Given the description of an element on the screen output the (x, y) to click on. 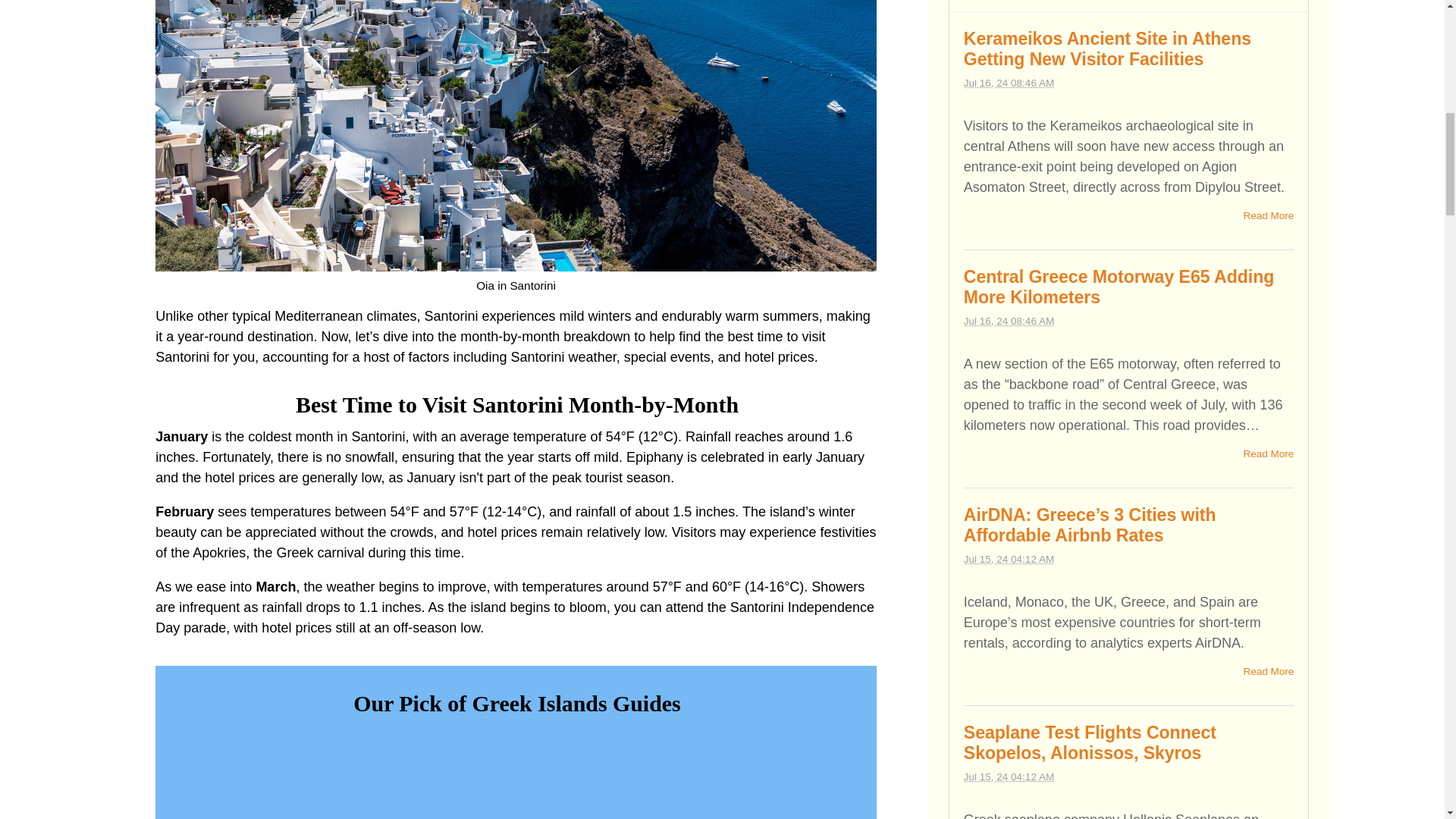
2024-07-16T08:46:42-0400 (1008, 320)
2024-07-15T04:12:14-0400 (1008, 776)
2024-07-15T04:12:14-0400 (1008, 559)
2024-07-16T08:46:42-0400 (1008, 82)
Rough-Guide-Greek-Islands-2022.png (515, 774)
